Given the description of an element on the screen output the (x, y) to click on. 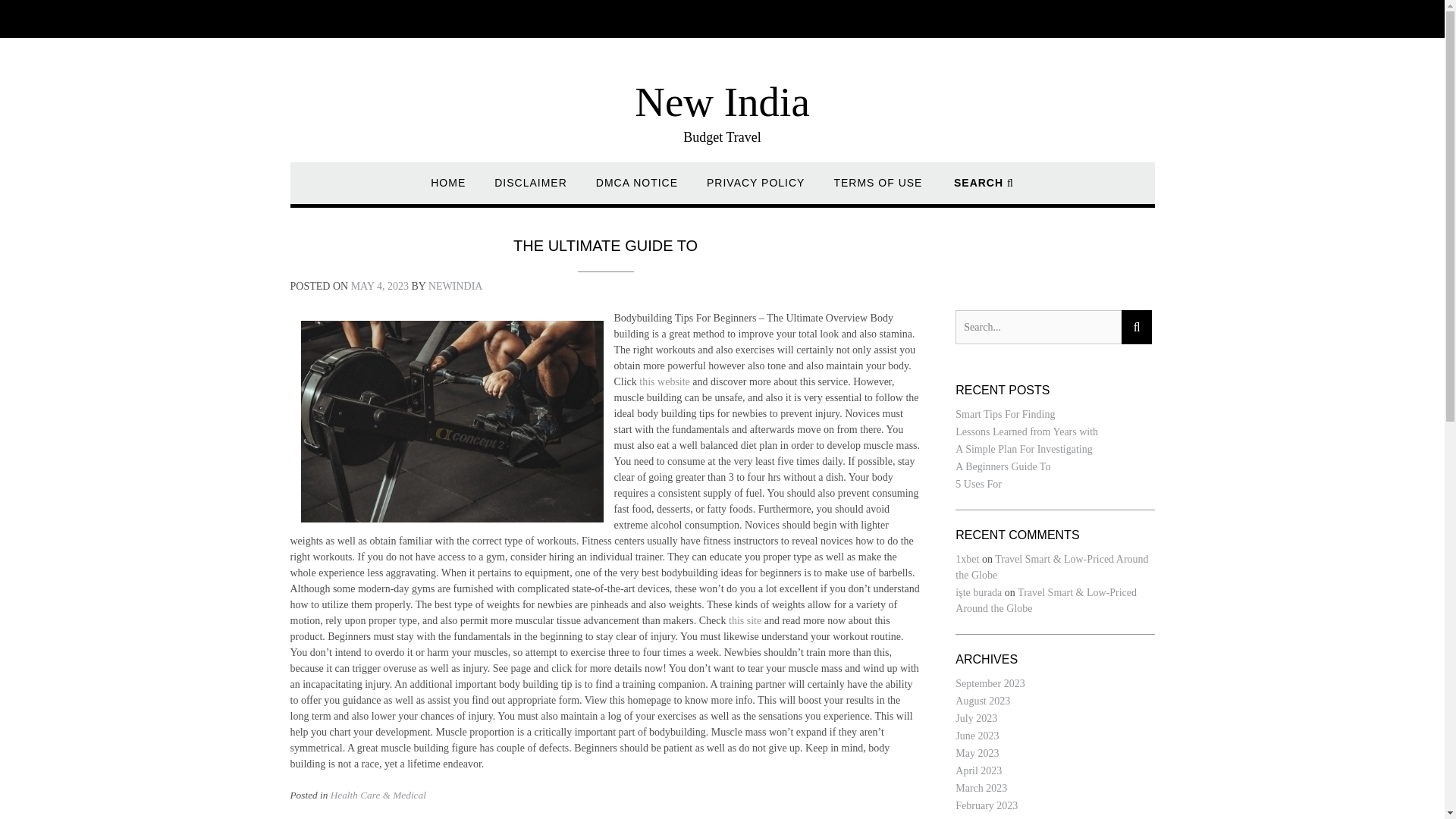
January 2023 (983, 818)
TERMS OF USE (876, 189)
New India (721, 102)
1xbet (966, 559)
5 Uses For (978, 483)
A Simple Plan For Investigating (1023, 449)
February 2023 (986, 805)
June 2023 (976, 736)
MAY 4, 2023 (379, 285)
